Given the description of an element on the screen output the (x, y) to click on. 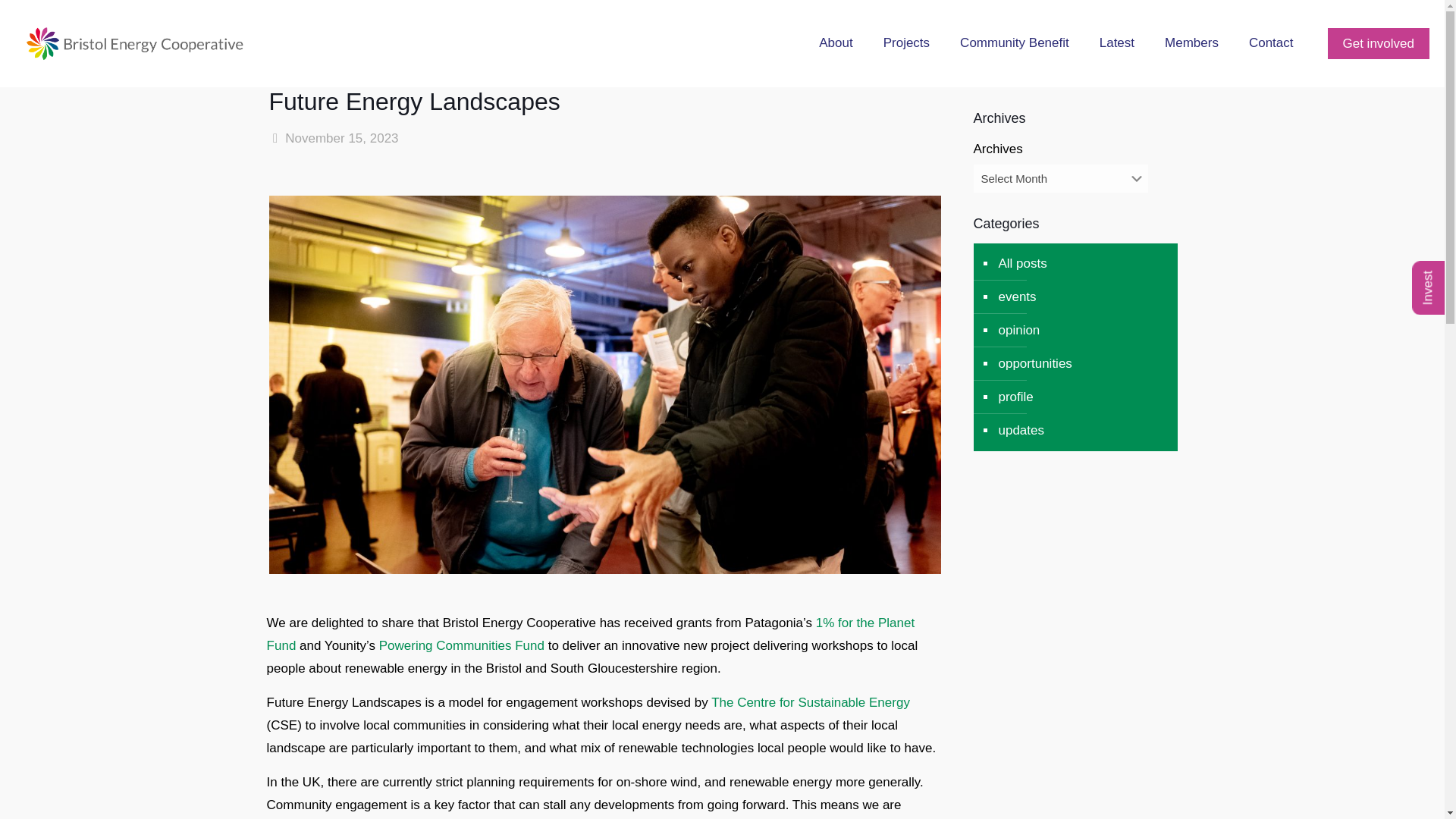
opinion (1018, 330)
Bristol Energy Cooperative (134, 43)
Powering Communities Fund (461, 645)
Community Benefit (1014, 43)
Get involved (1377, 42)
opportunities (1033, 363)
Members (1191, 43)
All posts (1020, 263)
events (1015, 296)
profile (1014, 397)
